Given the description of an element on the screen output the (x, y) to click on. 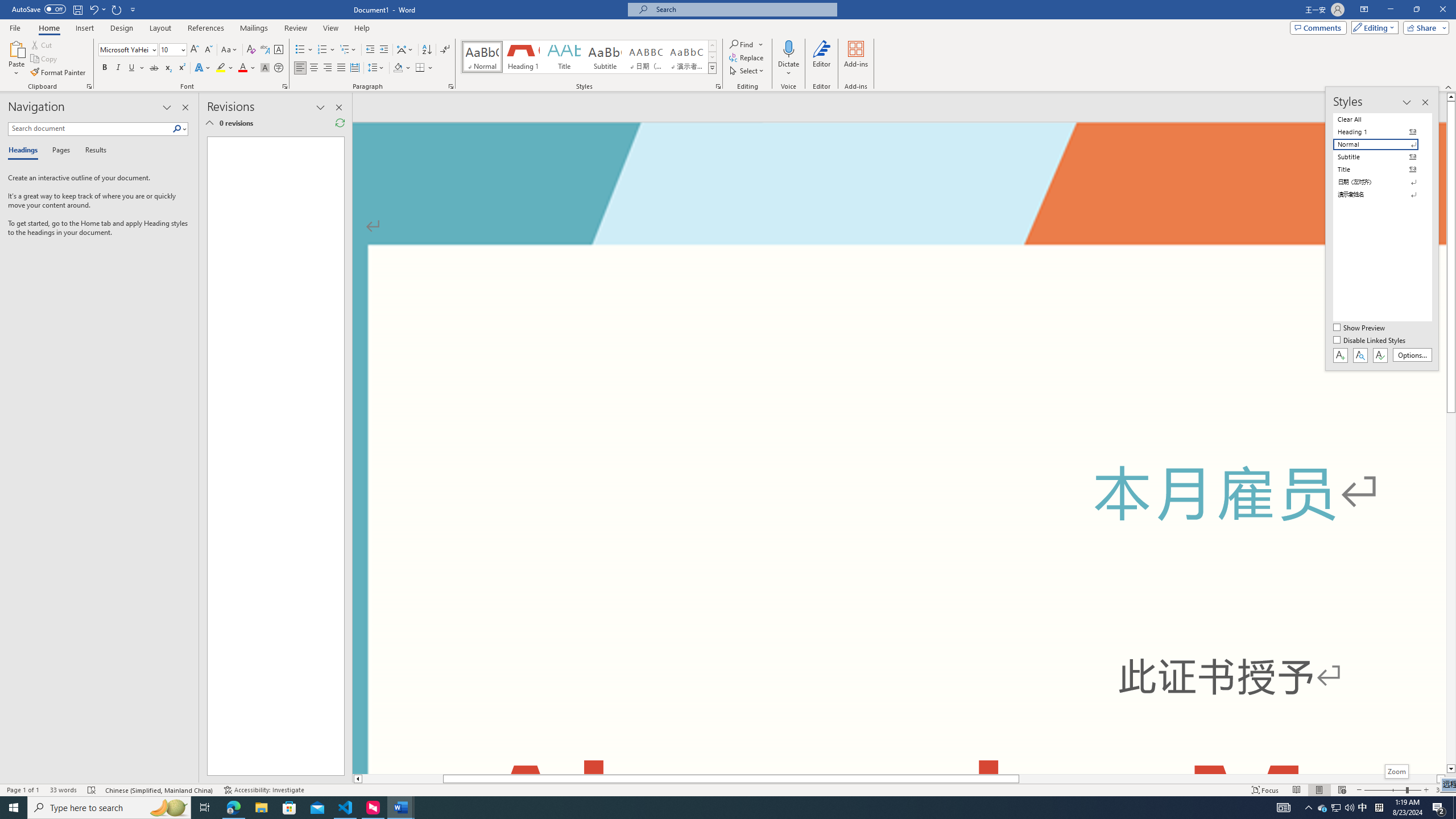
Column left (357, 778)
Line up (1450, 96)
Font Color Red (241, 67)
AutomationID: QuickStylesGallery (588, 56)
